Given the description of an element on the screen output the (x, y) to click on. 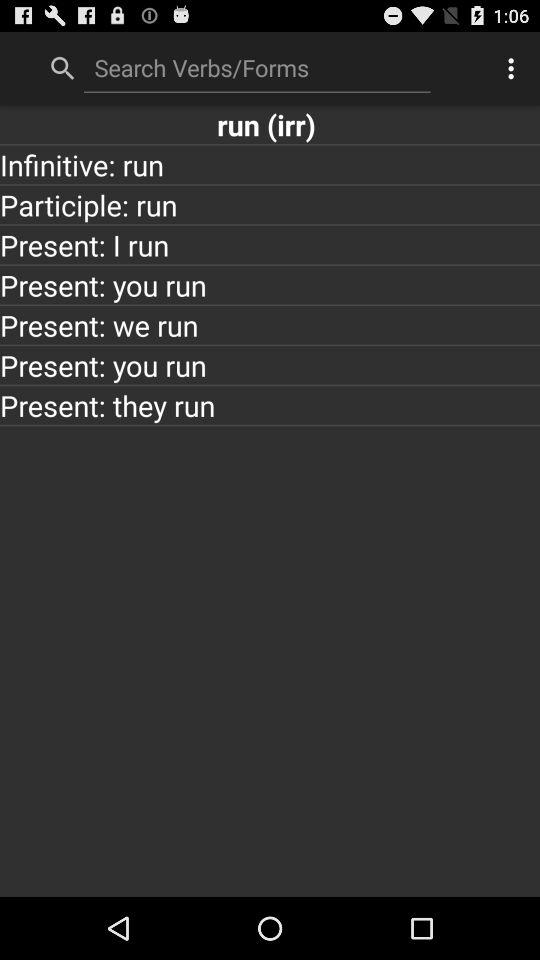
click the infinitive: run item (270, 164)
